Given the description of an element on the screen output the (x, y) to click on. 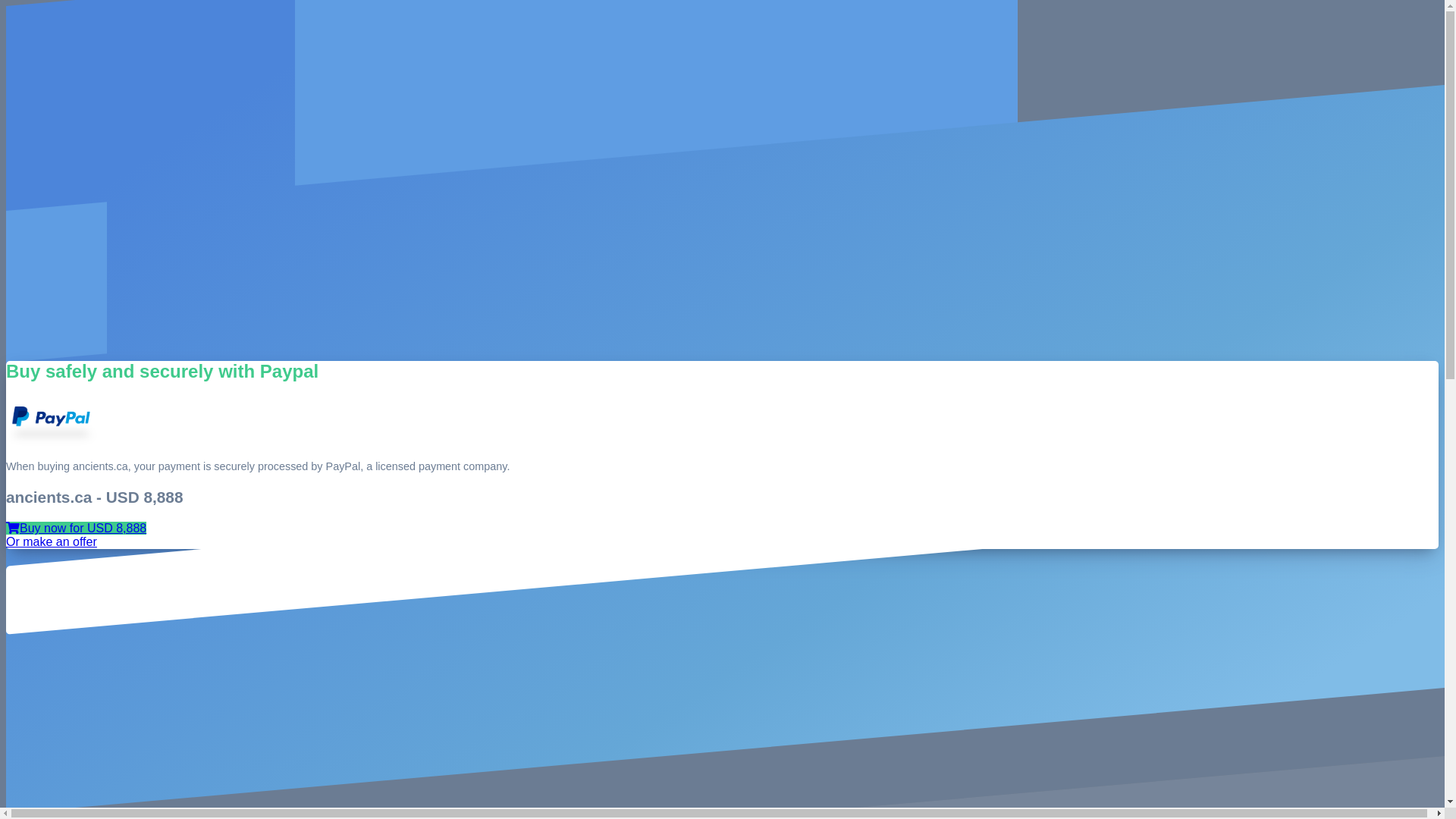
Or make an offer Element type: text (51, 541)
Buy now for USD 8,888 Element type: text (76, 527)
